Given the description of an element on the screen output the (x, y) to click on. 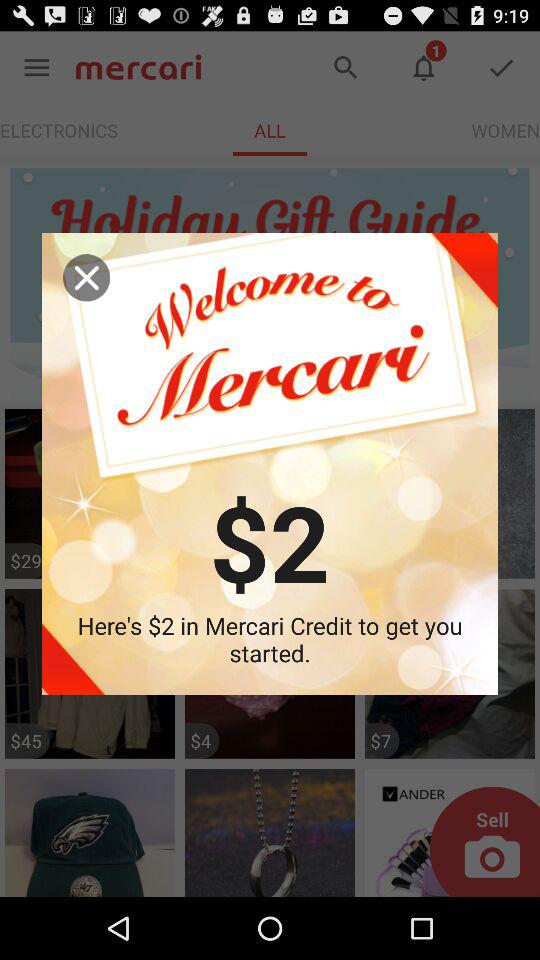
close the popup advertisement (86, 277)
